Given the description of an element on the screen output the (x, y) to click on. 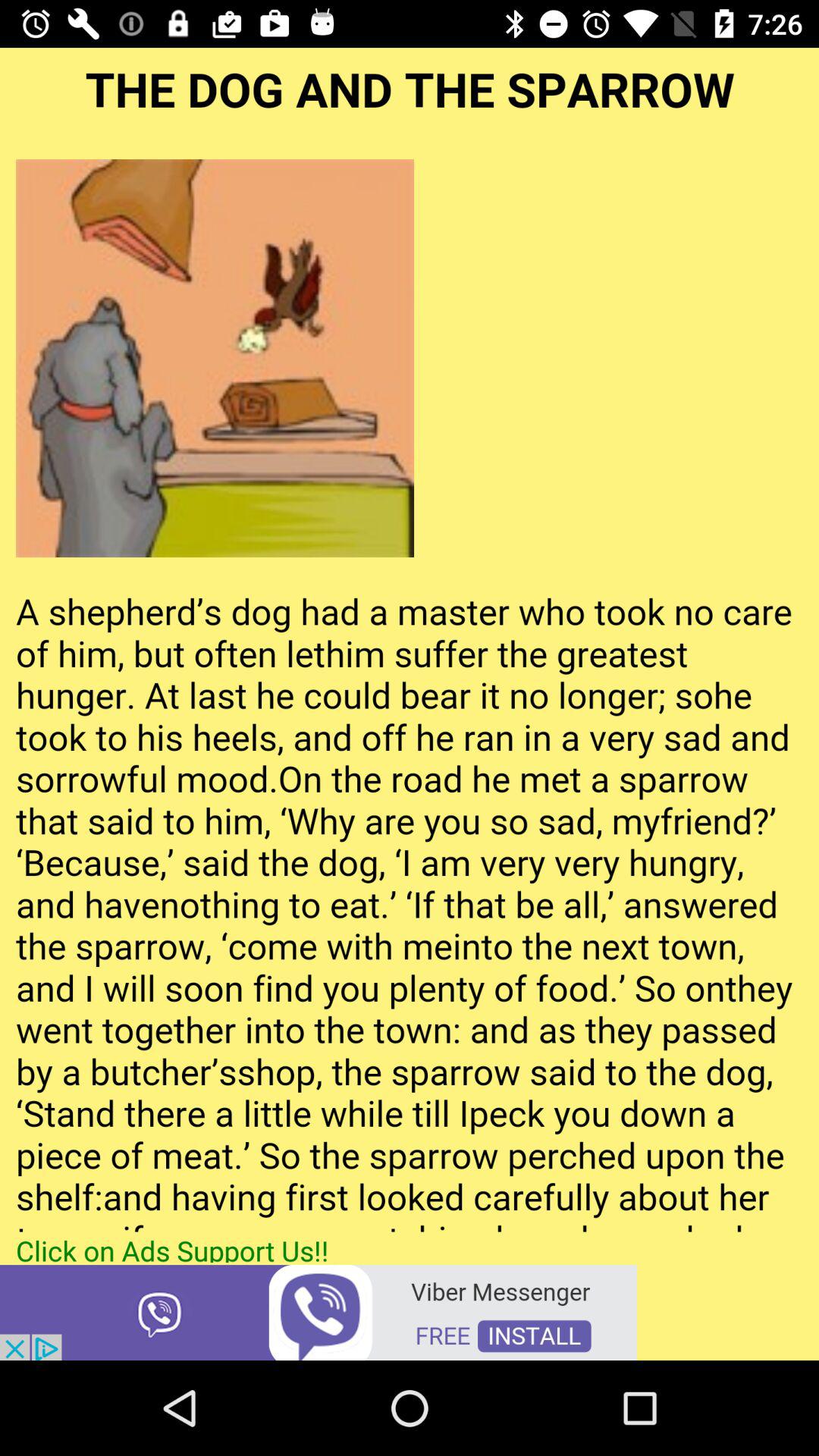
advertisement (318, 1311)
